Given the description of an element on the screen output the (x, y) to click on. 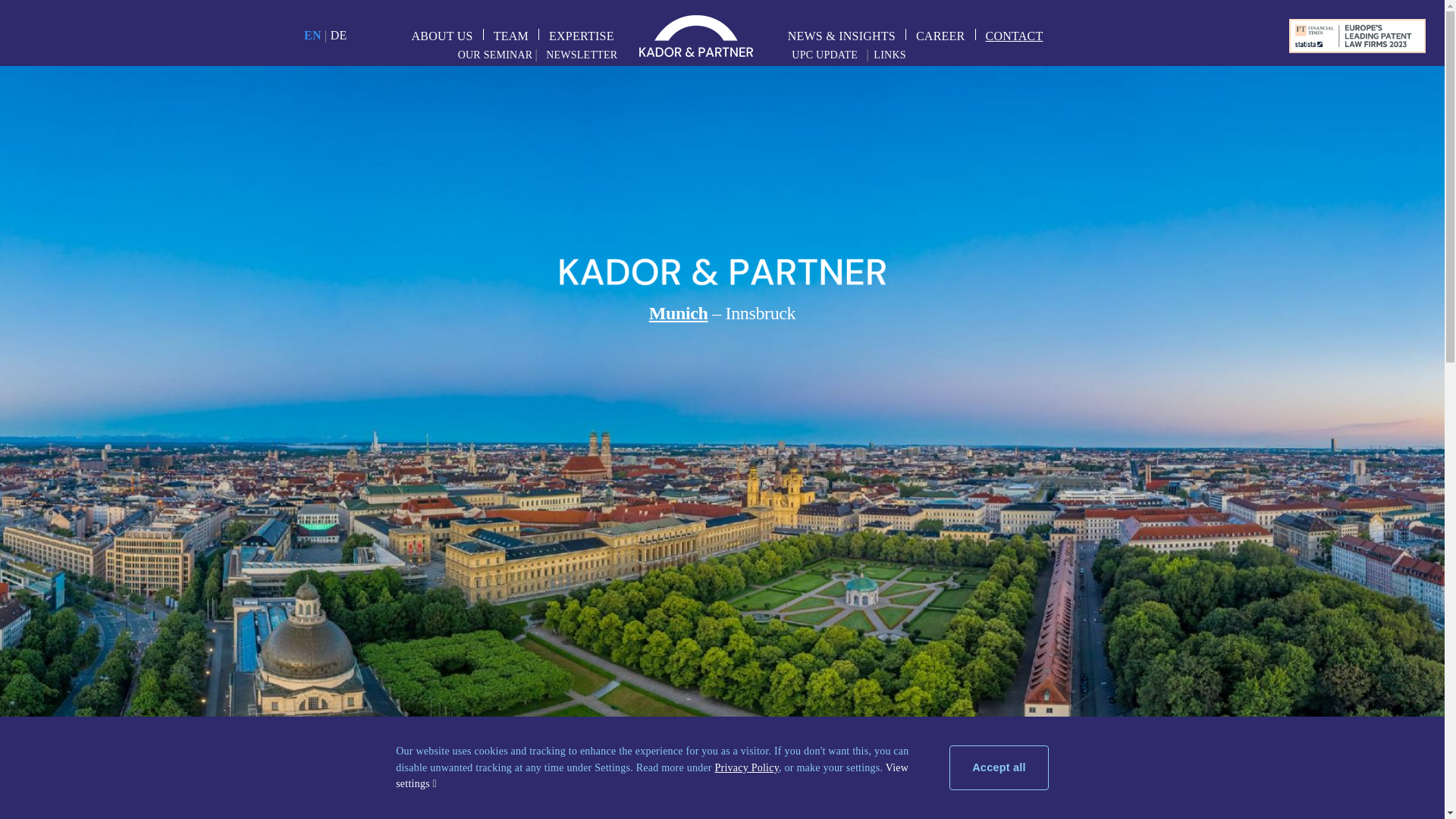
EN (312, 34)
EXPERTISE (576, 33)
DE (338, 34)
CAREER (935, 33)
CONTACT (1009, 33)
ABOUT US (437, 33)
   NEWSLETTER (577, 54)
LINKS (889, 54)
OUR SEMINAR (495, 54)
UPC UPDATE    (829, 54)
TEAM (505, 33)
